Given the description of an element on the screen output the (x, y) to click on. 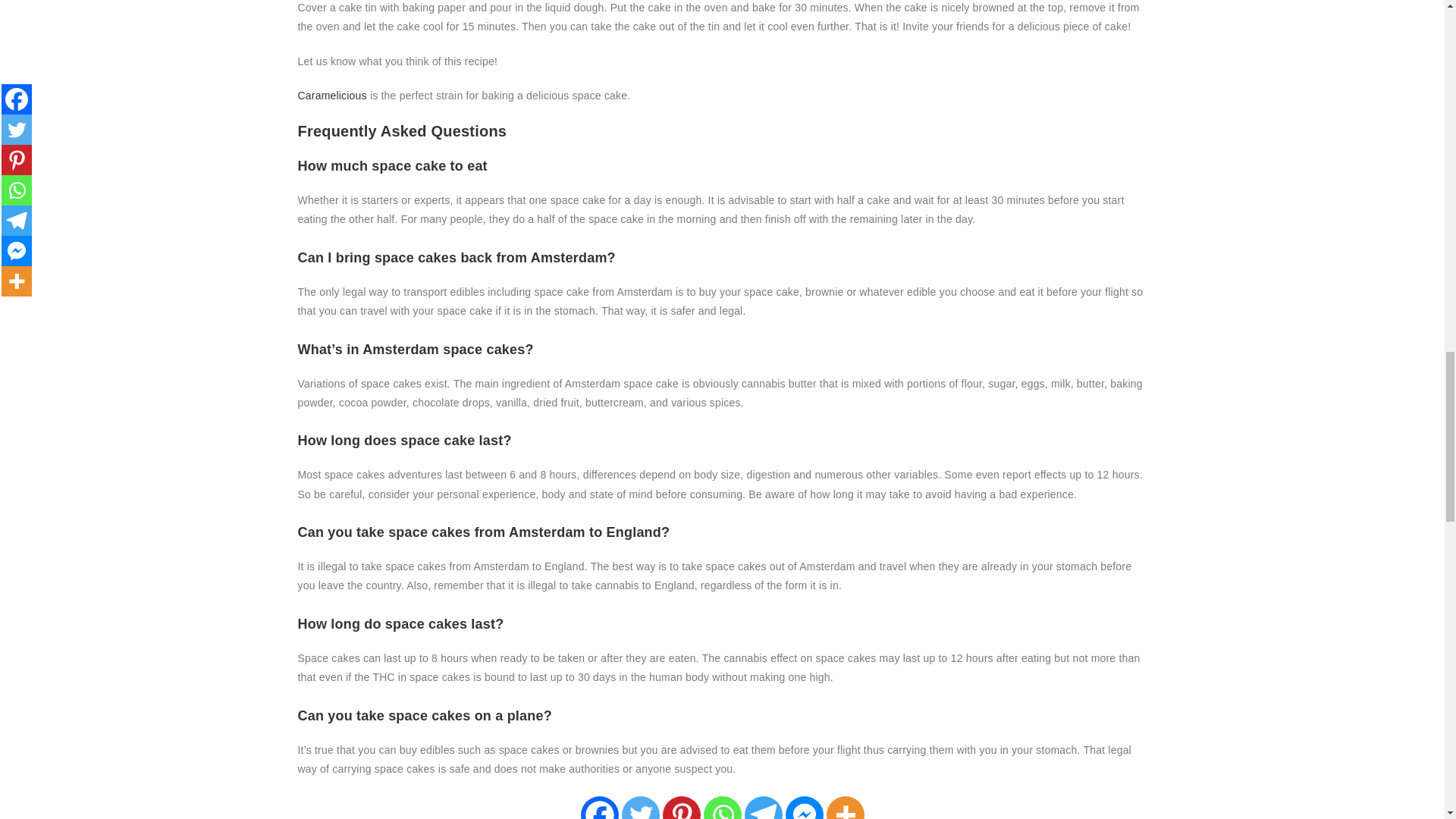
Facebook (599, 807)
Telegram (763, 807)
More (845, 807)
Whatsapp (722, 807)
Pinterest (681, 807)
Twitter (640, 807)
